Given the description of an element on the screen output the (x, y) to click on. 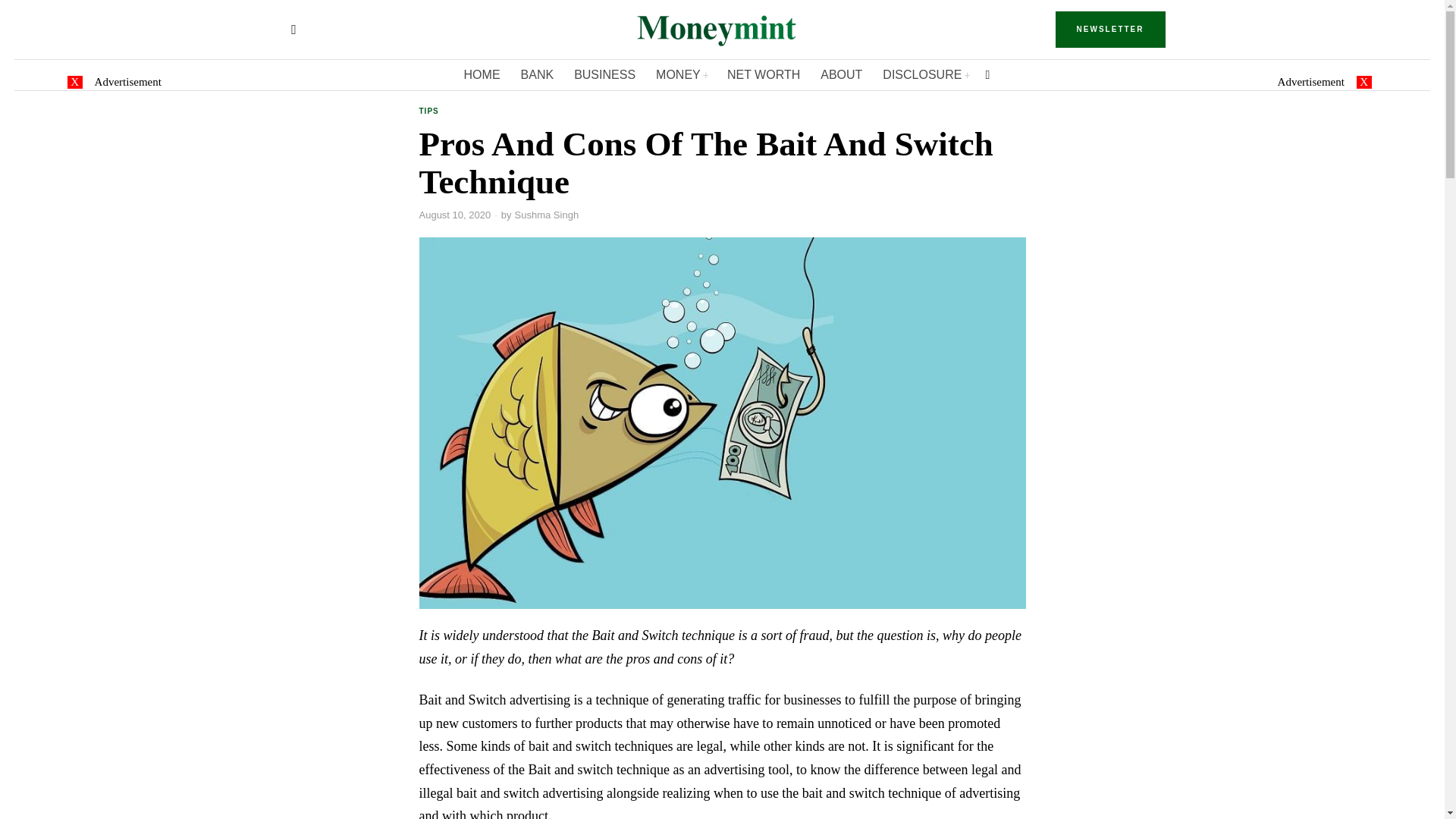
NET WORTH (763, 74)
BUSINESS (605, 74)
DISCLOSURE (925, 74)
ABOUT (841, 74)
HOME (483, 74)
10 Aug, 2020 17:46:26 (454, 214)
BANK (539, 74)
Sushma Singh (547, 214)
NEWSLETTER (1110, 29)
TIPS (428, 111)
